Given the description of an element on the screen output the (x, y) to click on. 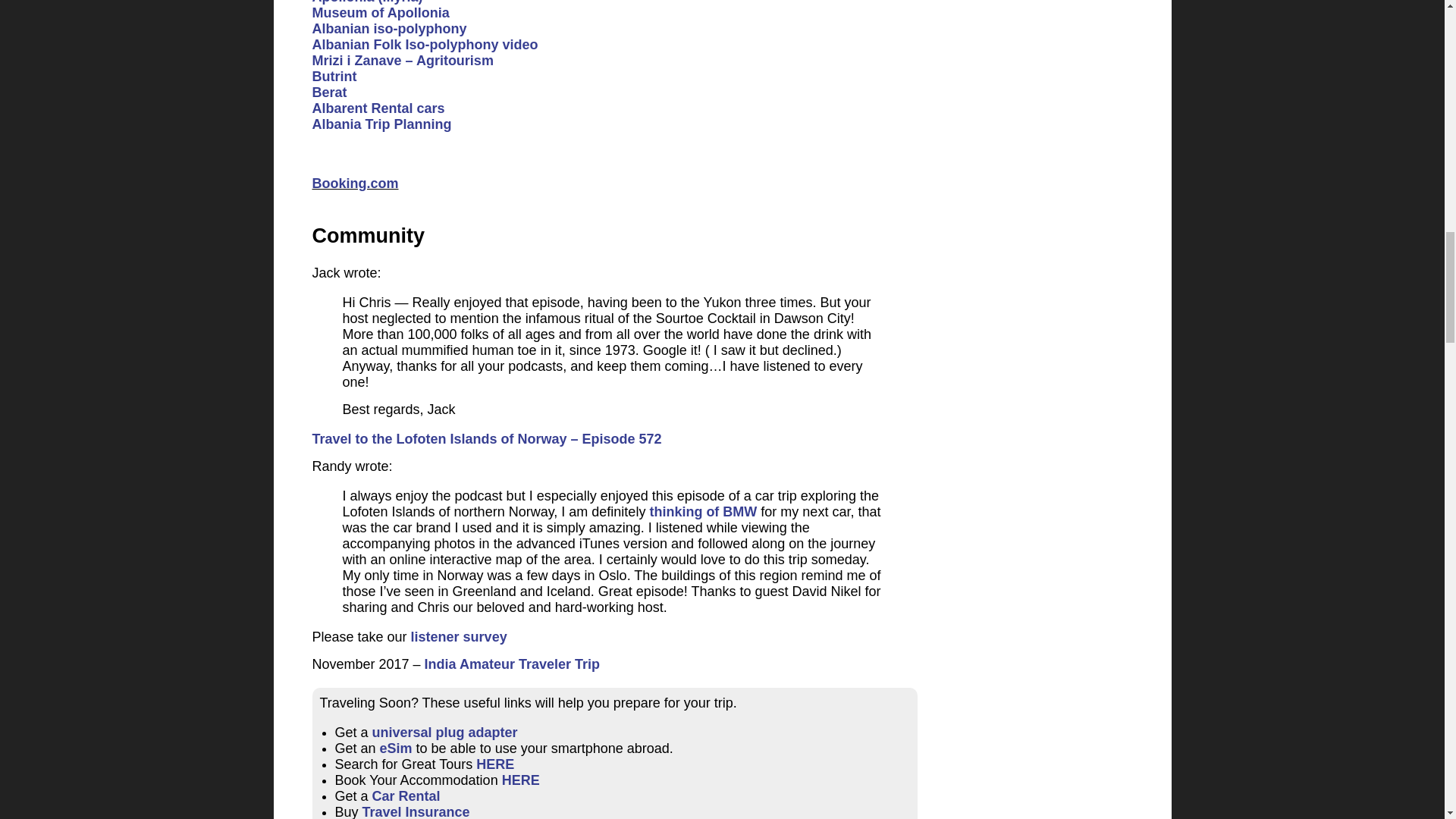
Albanian iso-polyphony (390, 28)
thinking of BMW (703, 511)
Albania Trip Planning (382, 124)
Museum of Apollonia (381, 12)
Albarent Rental cars (379, 108)
Berat (330, 92)
Booking.com (355, 183)
Albanian Folk Iso-polyphony video (425, 44)
Butrint (334, 76)
